Given the description of an element on the screen output the (x, y) to click on. 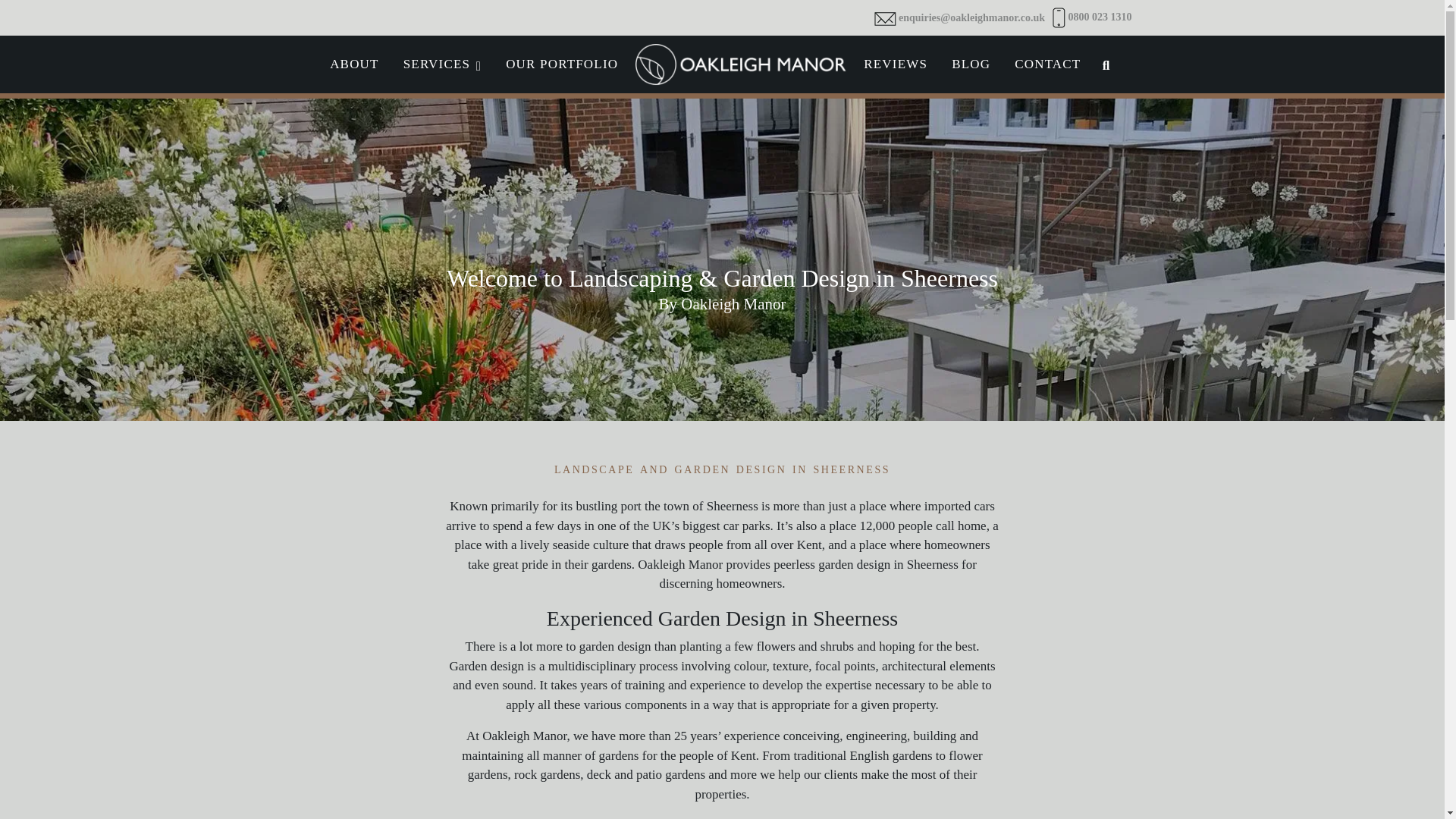
OUR PORTFOLIO (561, 63)
BLOG (970, 63)
SERVICES (721, 64)
REVIEWS (442, 63)
CONTACT (895, 63)
ABOUT (1047, 63)
0800 023 1310 (354, 63)
